Given the description of an element on the screen output the (x, y) to click on. 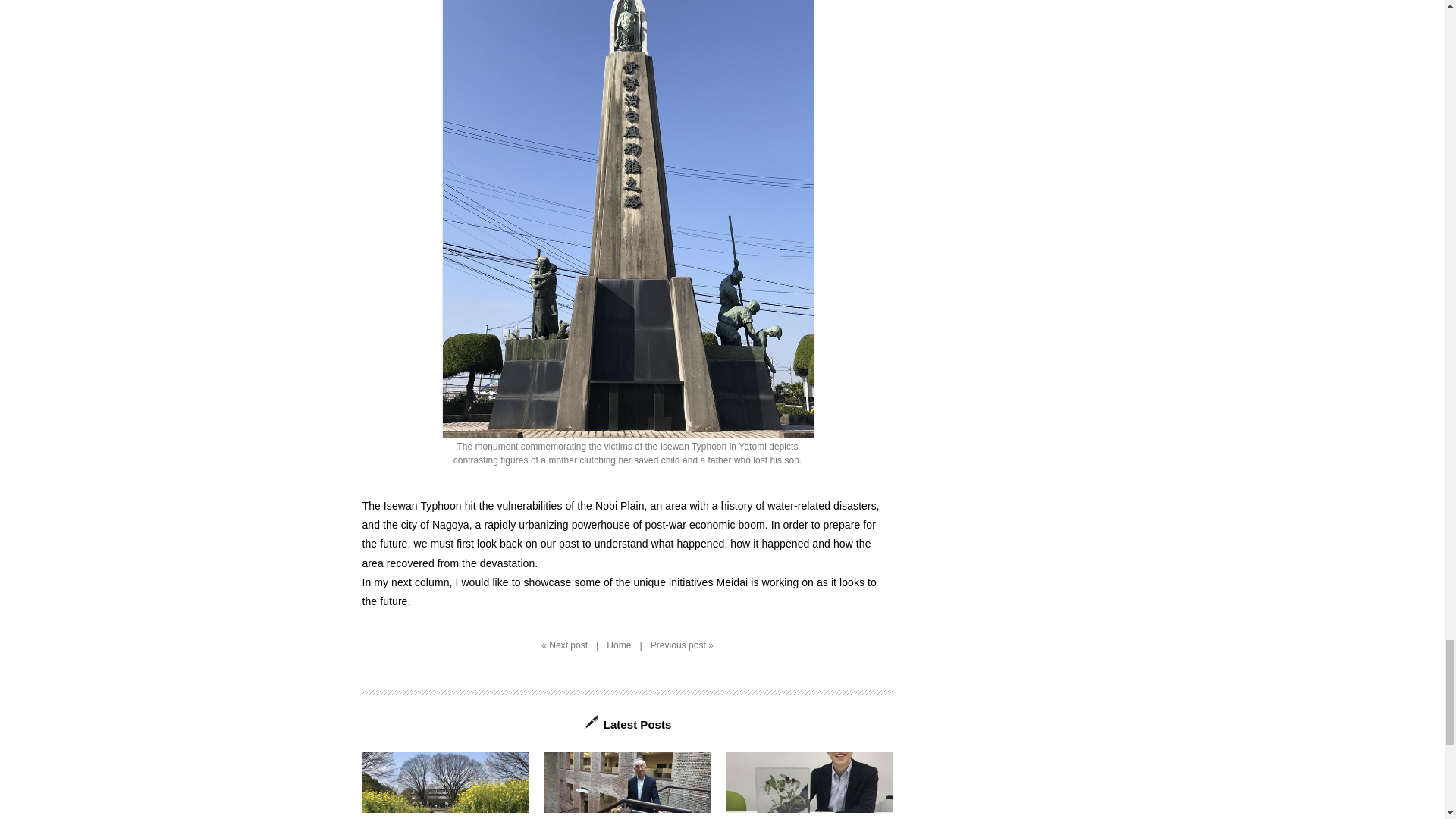
Home (445, 785)
